Given the description of an element on the screen output the (x, y) to click on. 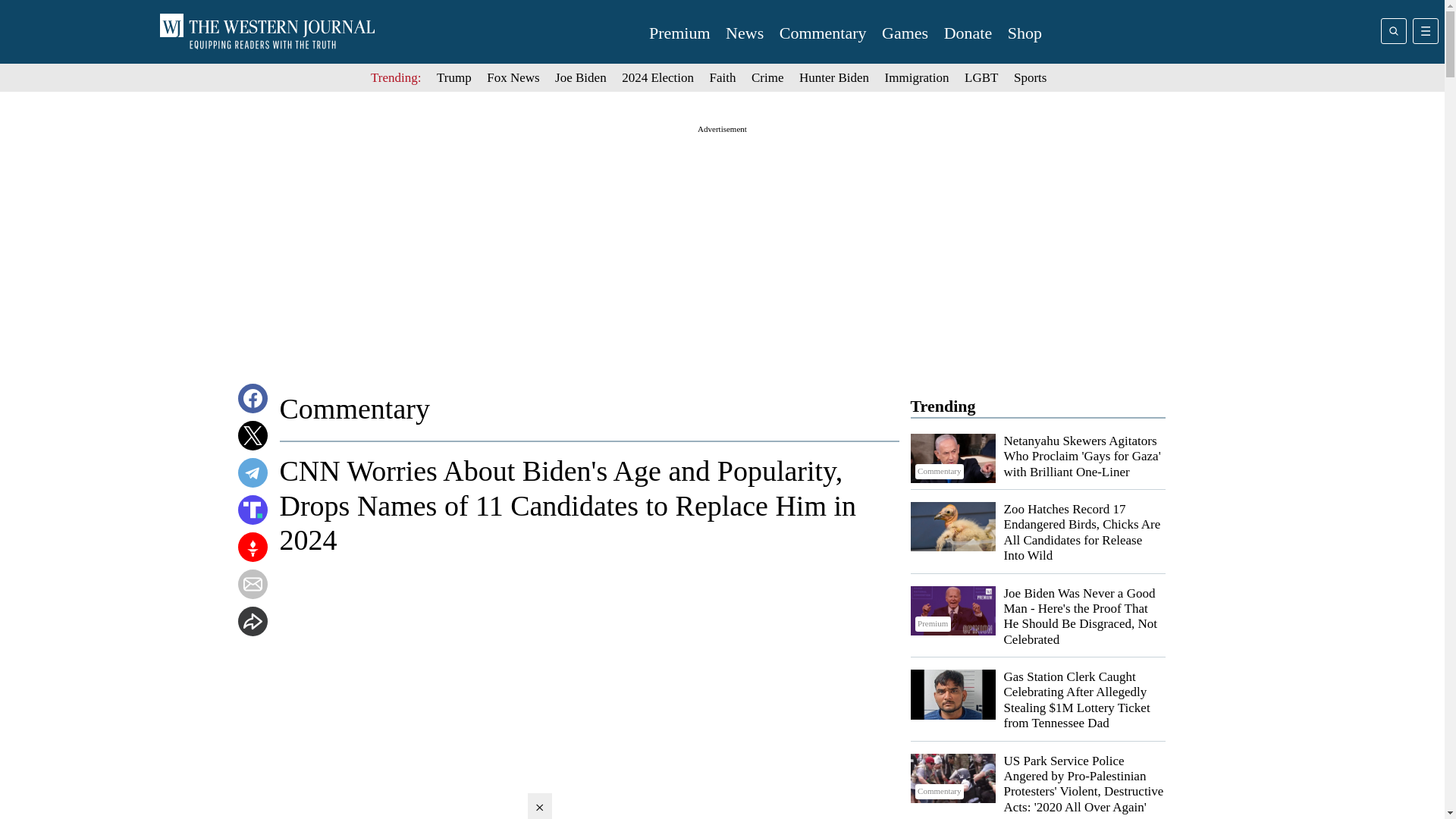
News (743, 32)
Joe Biden (580, 77)
Shop (1024, 32)
Premium (952, 611)
Commentary (952, 459)
Faith (723, 77)
2024 Election (657, 77)
Commentary (952, 778)
Premium (679, 32)
Donate (967, 32)
Hunter Biden (834, 77)
